Given the description of an element on the screen output the (x, y) to click on. 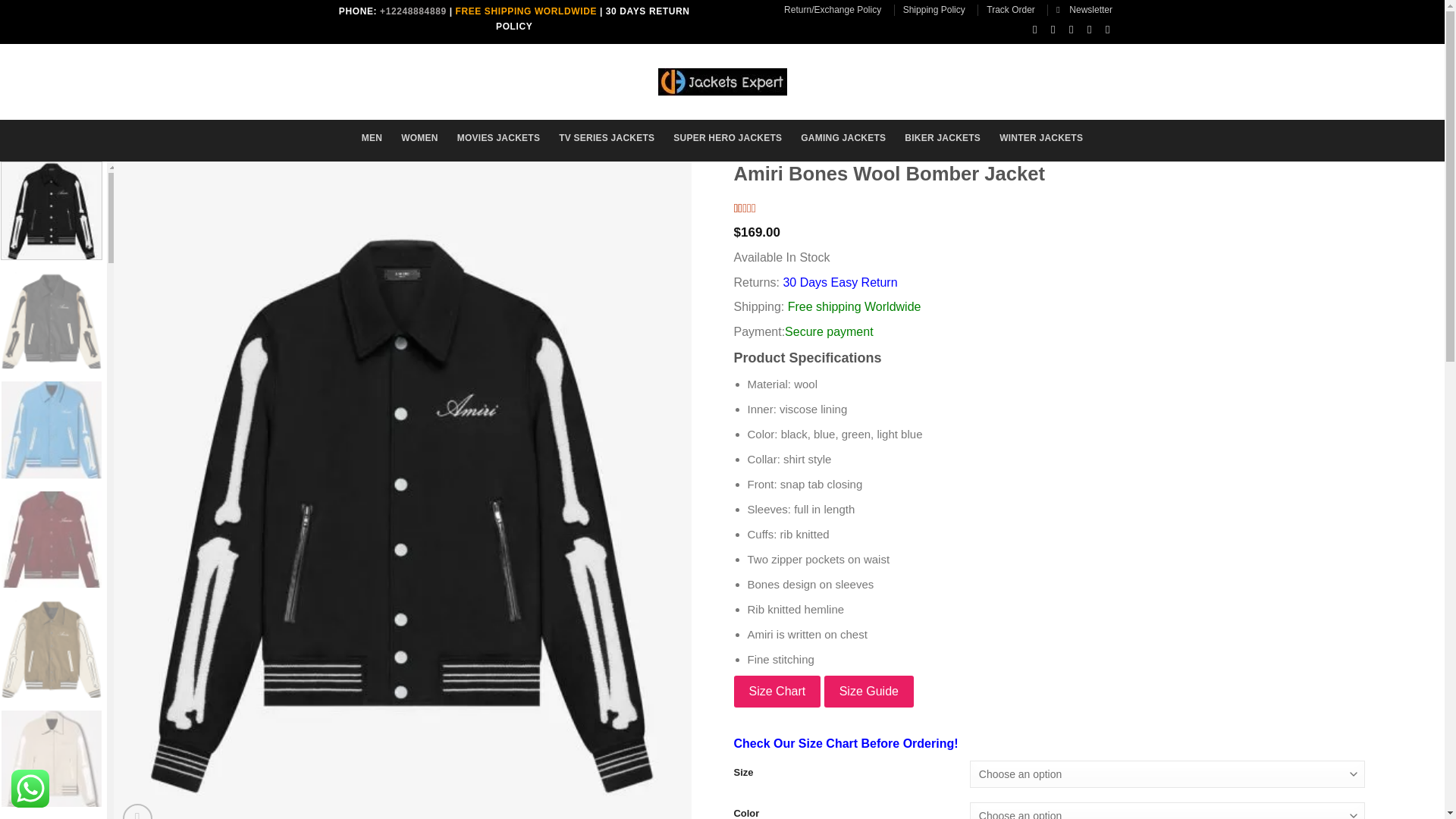
WOMEN (419, 137)
SUPER HERO JACKETS (726, 137)
LOGIN (971, 79)
TV SERIES JACKETS (606, 137)
Shipping Policy (933, 9)
Search (411, 76)
Newsletter (1084, 9)
WINTER JACKETS (1040, 137)
Jackets Expert (721, 81)
Cart (1072, 78)
MOVIES JACKETS (498, 137)
GAMING JACKETS (842, 137)
BIKER JACKETS (941, 137)
Track Order (1011, 9)
Sign up for Newsletter (1084, 9)
